Given the description of an element on the screen output the (x, y) to click on. 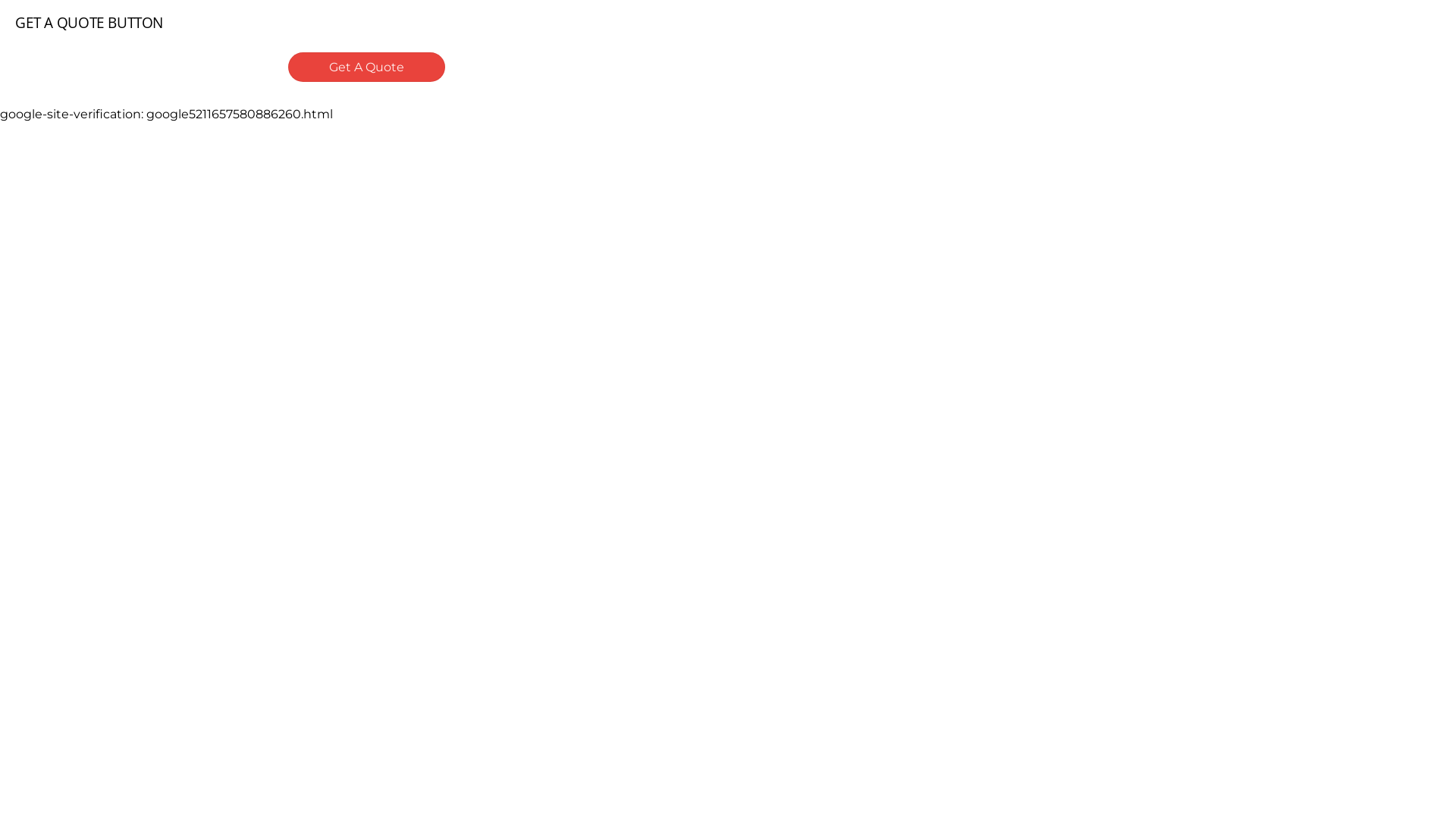
Get A Quote Element type: text (366, 66)
